Given the description of an element on the screen output the (x, y) to click on. 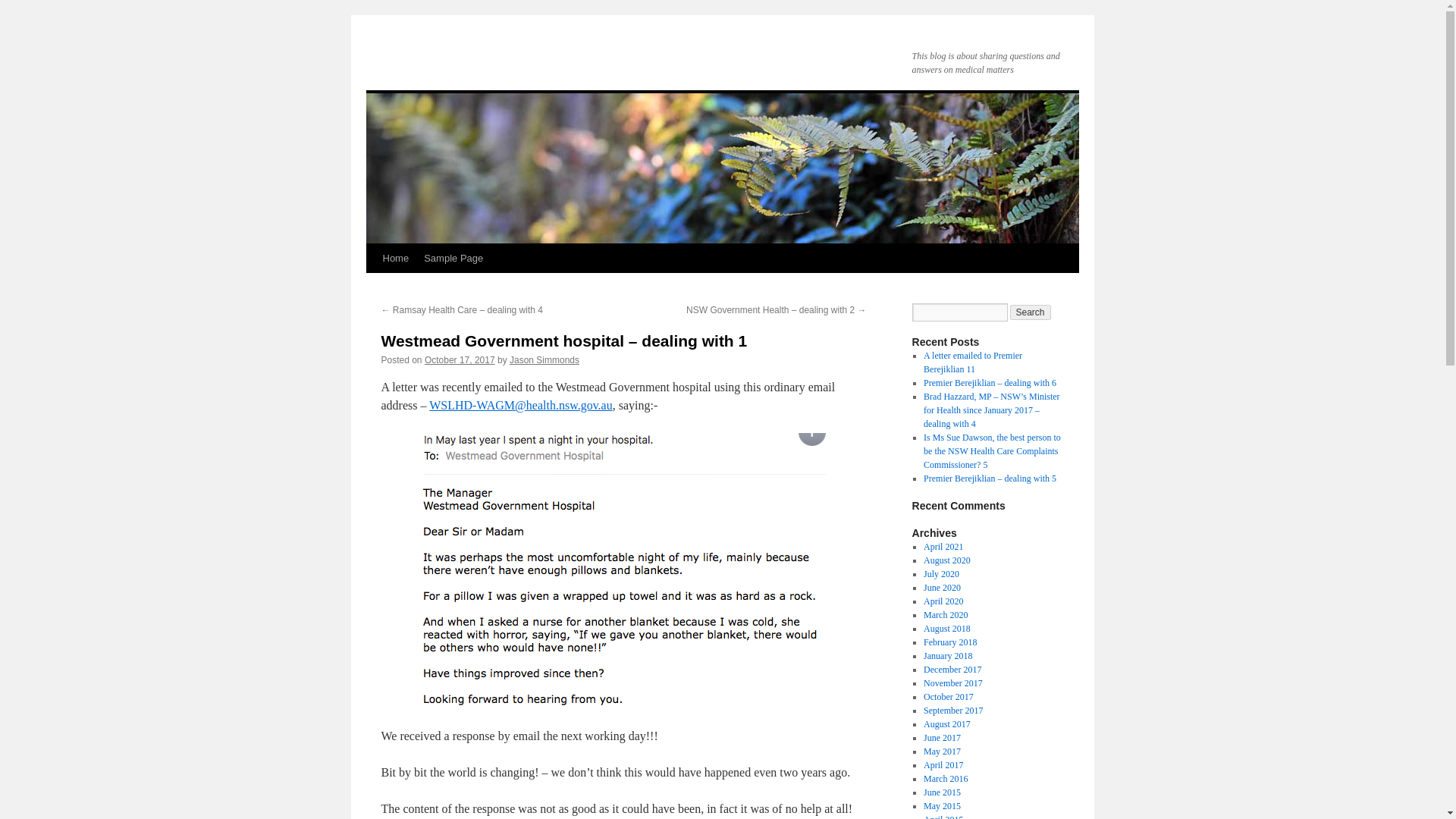
April 2021 (942, 546)
Jason Simmonds (544, 359)
August 2017 (947, 724)
March 2020 (945, 614)
June 2020 (941, 587)
July 2020 (941, 573)
Search (1030, 312)
View all posts by Jason Simmonds (544, 359)
October 17, 2017 (460, 359)
Search (1030, 312)
